Given the description of an element on the screen output the (x, y) to click on. 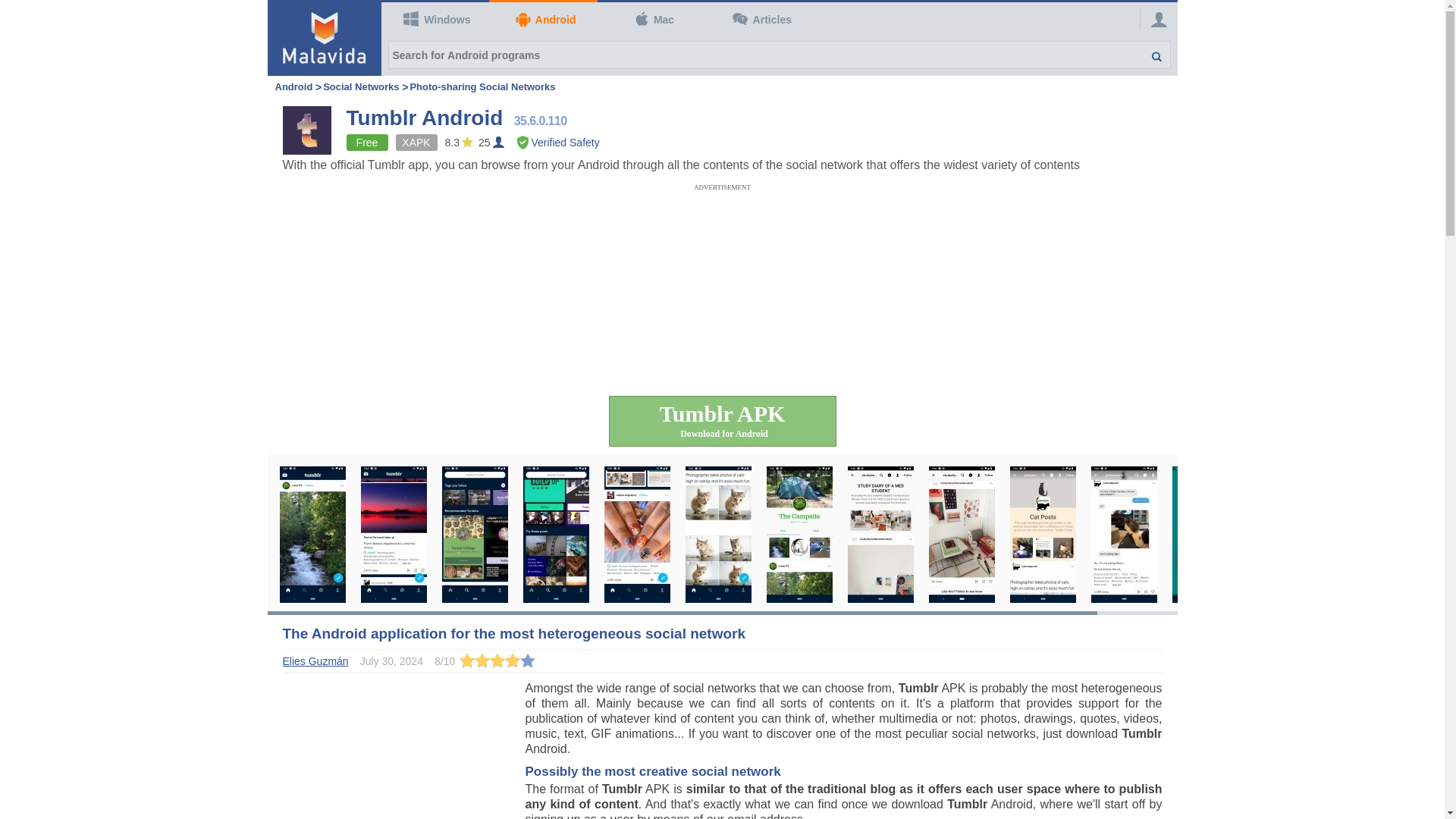
Photo-sharing Social Networks (481, 86)
Social Networks (360, 86)
Download programs free for Android (543, 19)
Download programs free for Mac (651, 19)
Malavida Safety First (557, 142)
Tumblr APK (721, 420)
user (1159, 19)
Download programs free for Windows (434, 19)
search (1148, 54)
QAs (760, 19)
